Given the description of an element on the screen output the (x, y) to click on. 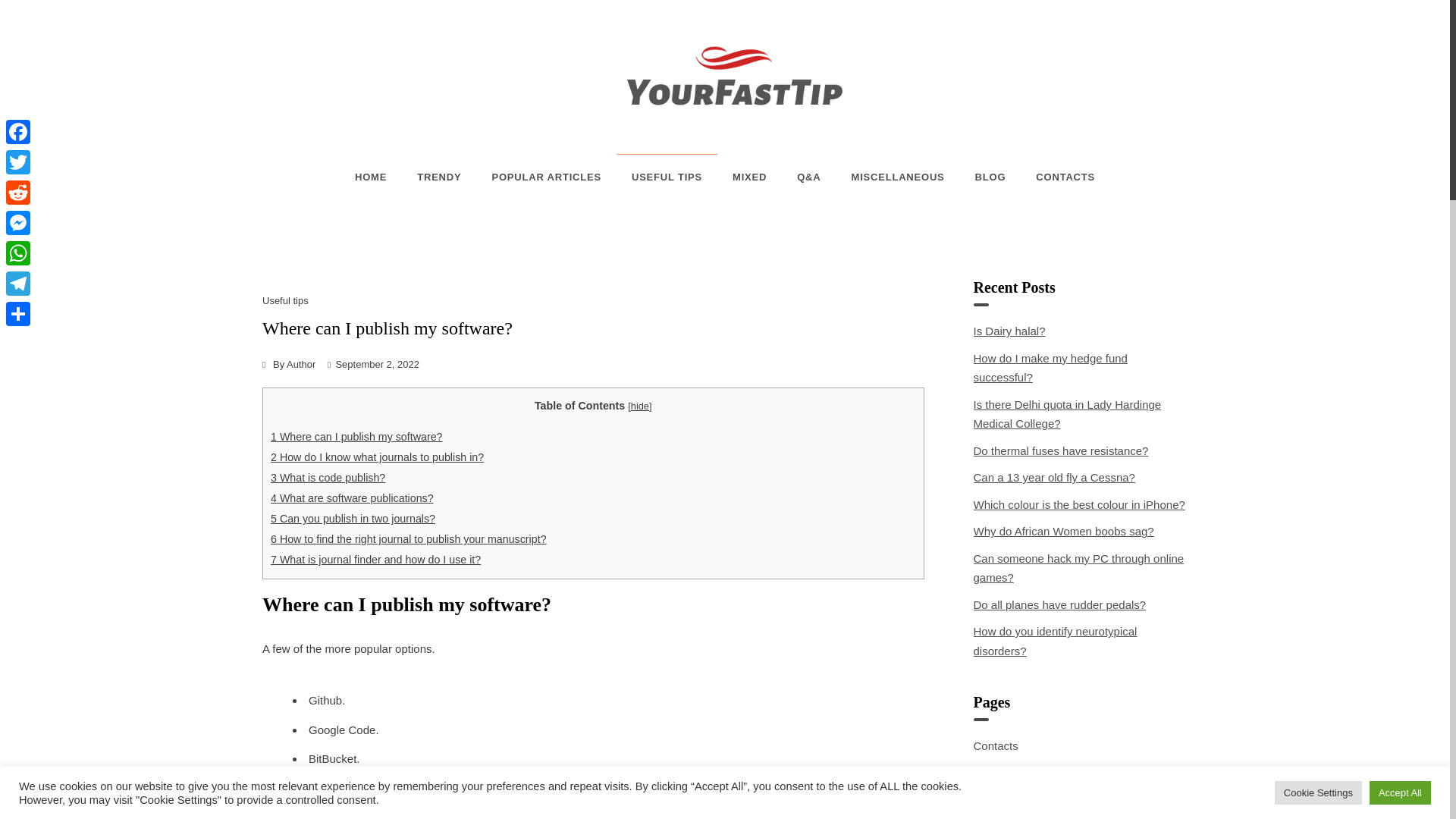
Reddit (17, 192)
Facebook (17, 132)
4 What are software publications? (351, 498)
September 2, 2022 (376, 364)
WhatsApp (17, 253)
MISCELLANEOUS (897, 176)
HOME (378, 176)
6 How to find the right journal to publish your manuscript? (408, 539)
2 How do I know what journals to publish in? (376, 457)
BLOG (990, 176)
TRENDY (438, 176)
5 Can you publish in two journals? (352, 518)
CONTACTS (1057, 176)
1 Where can I publish my software? (356, 436)
Author (300, 364)
